Given the description of an element on the screen output the (x, y) to click on. 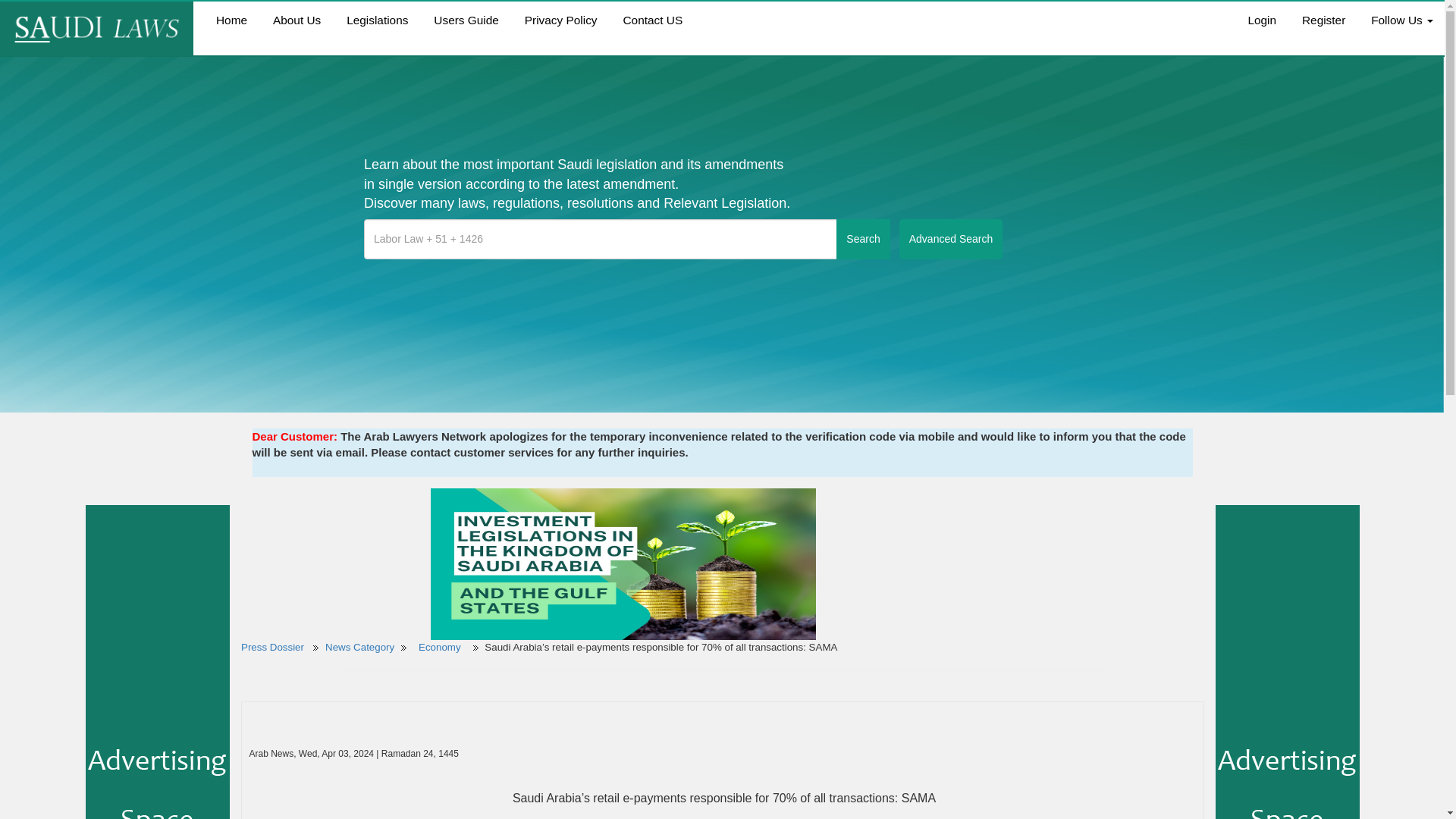
Users Guide (466, 20)
Press Dossier (272, 646)
Home (232, 20)
Register (1323, 20)
Contact US (652, 20)
Search (862, 239)
Search (862, 239)
Advanced Search (951, 239)
Privacy Policy (560, 20)
News Category (359, 646)
Legislations (376, 20)
Economy (441, 646)
Login (1261, 20)
About Us (296, 20)
